Given the description of an element on the screen output the (x, y) to click on. 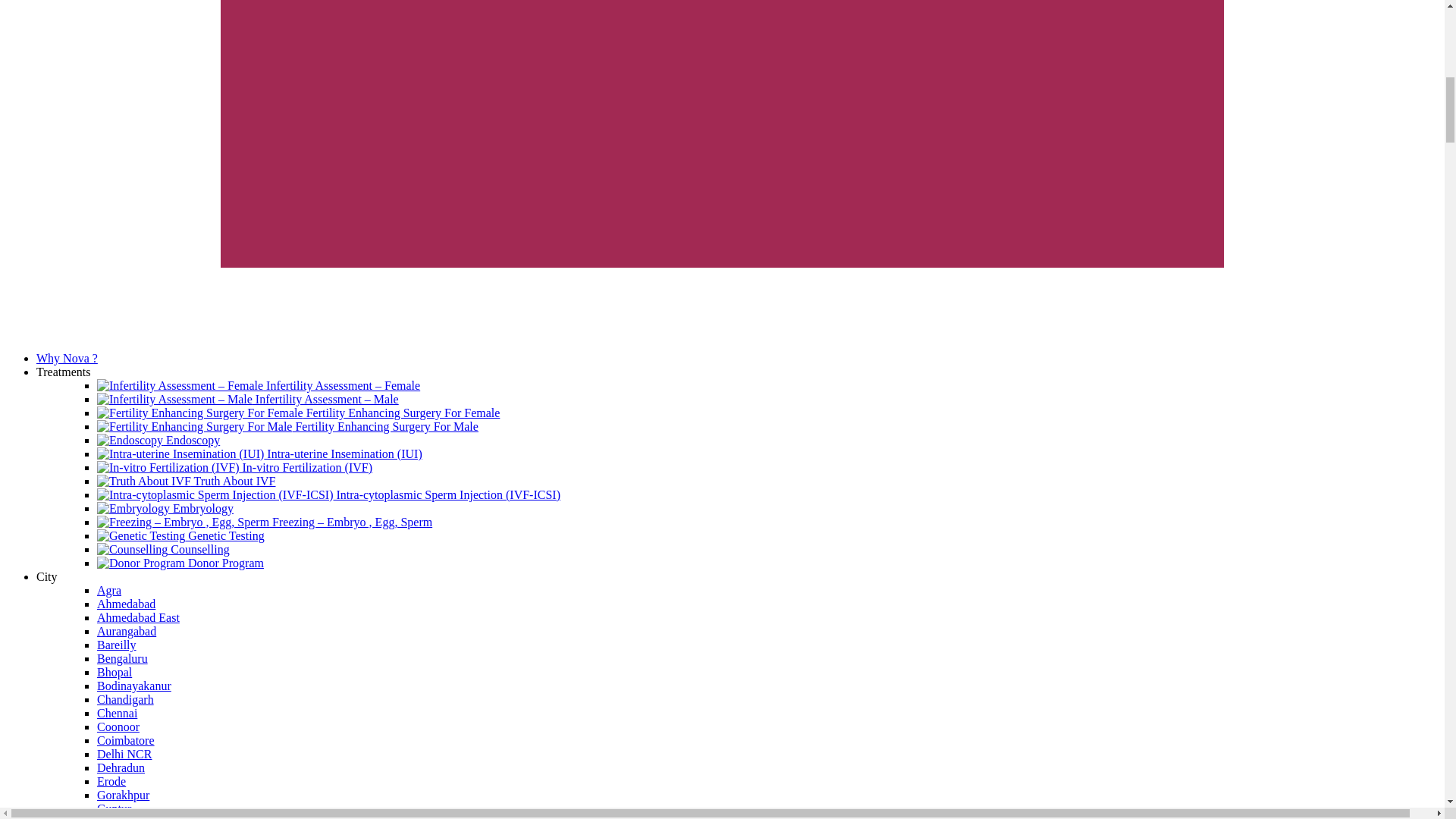
Counselling (163, 549)
Agra (108, 590)
Treatments (63, 371)
Why Nova ? (66, 358)
Endoscopy (158, 440)
Embryology (164, 508)
City (47, 576)
Donor Program (180, 562)
Fertility Enhancing Surgery For Male (288, 426)
Genetic Testing (180, 535)
